Given the description of an element on the screen output the (x, y) to click on. 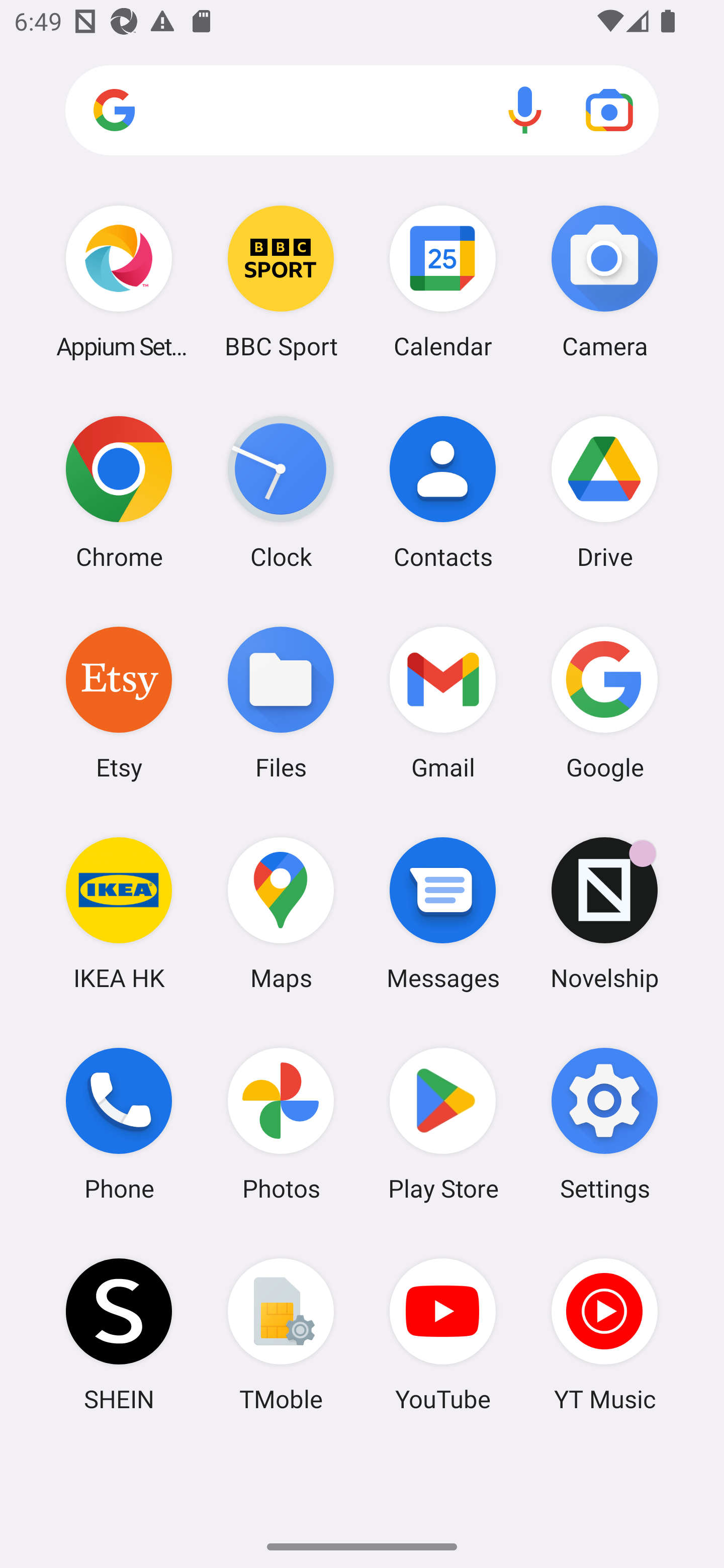
Search apps, web and more (361, 110)
Voice search (524, 109)
Google Lens (608, 109)
Appium Settings (118, 281)
BBC Sport (280, 281)
Calendar (443, 281)
Camera (604, 281)
Chrome (118, 492)
Clock (280, 492)
Contacts (443, 492)
Drive (604, 492)
Etsy (118, 702)
Files (280, 702)
Gmail (443, 702)
Google (604, 702)
IKEA HK (118, 913)
Maps (280, 913)
Messages (443, 913)
Novelship Novelship has 1 notification (604, 913)
Phone (118, 1124)
Photos (280, 1124)
Play Store (443, 1124)
Settings (604, 1124)
SHEIN (118, 1334)
TMoble (280, 1334)
YouTube (443, 1334)
YT Music (604, 1334)
